Given the description of an element on the screen output the (x, y) to click on. 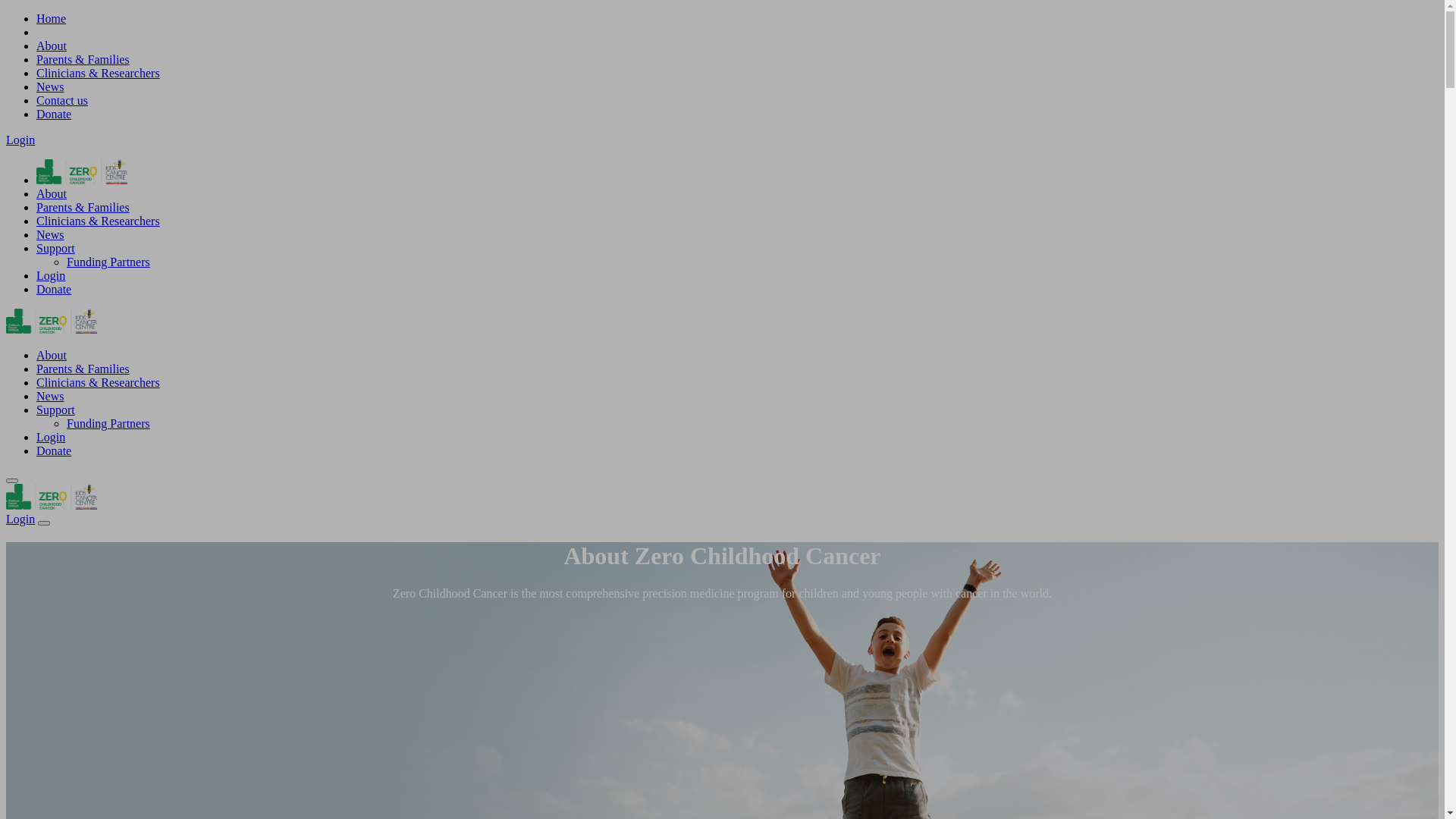
Parents & Families Element type: text (82, 206)
Login Element type: text (50, 436)
Login Element type: text (20, 139)
Funding Partners Element type: text (108, 423)
Contact us Element type: text (61, 100)
About Element type: text (51, 193)
News Element type: text (49, 234)
Donate Element type: text (53, 450)
Donate Element type: text (53, 113)
About Element type: text (51, 45)
Logo Element type: hover (81, 179)
Parents & Families Element type: text (82, 59)
Home Element type: text (50, 18)
Clinicians & Researchers Element type: text (98, 382)
News Element type: text (49, 395)
News Element type: text (49, 86)
Funding Partners Element type: text (108, 261)
Login Element type: text (20, 518)
About Element type: text (51, 354)
Donate Element type: text (53, 288)
Support Element type: text (55, 409)
Login Element type: text (50, 275)
Parents & Families Element type: text (82, 368)
Support Element type: text (55, 247)
Clinicians & Researchers Element type: text (98, 72)
Clinicians & Researchers Element type: text (98, 220)
